Given the description of an element on the screen output the (x, y) to click on. 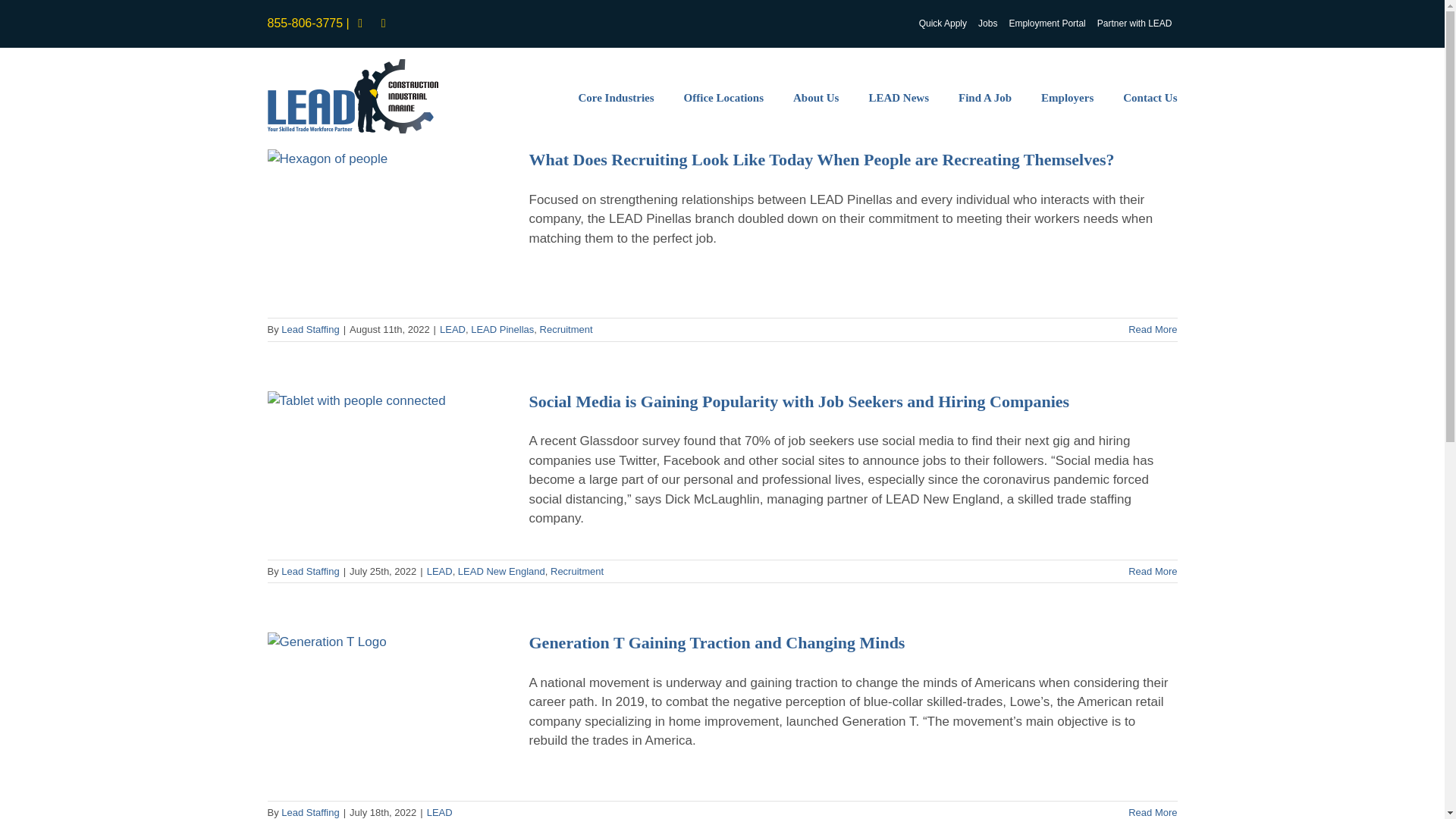
Partner with LEAD (1134, 22)
Quick Apply (943, 22)
Posts by Lead Staffing (310, 571)
Employment Portal (1046, 22)
855-806-3775 (304, 22)
Posts by Lead Staffing (310, 812)
Posts by Lead Staffing (310, 328)
